Given the description of an element on the screen output the (x, y) to click on. 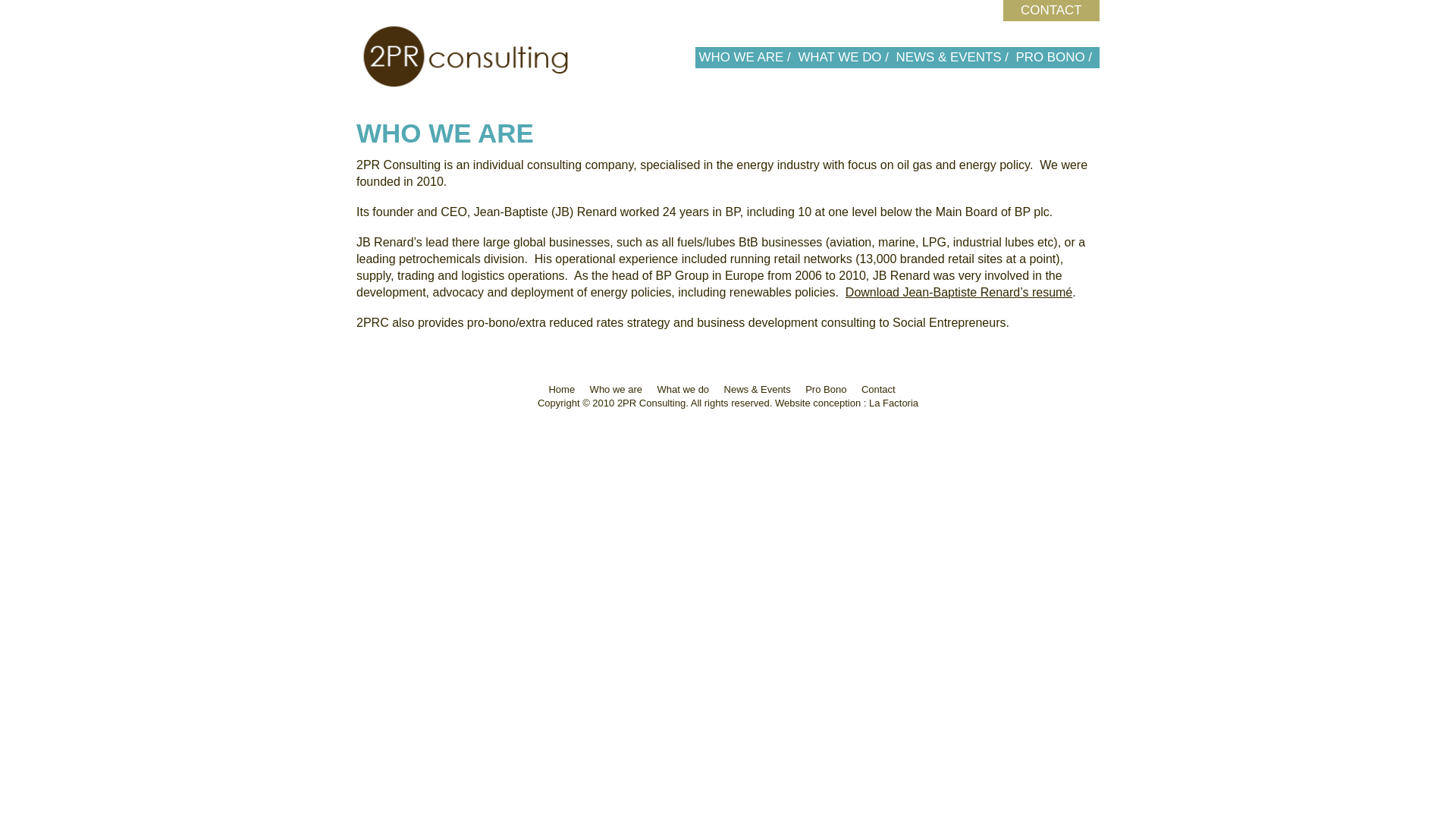
NEWS & EVENTS Element type: text (948, 57)
Pro Bono Element type: text (825, 389)
News & Events Element type: text (757, 389)
Who we are Element type: text (615, 389)
CONTACT Element type: text (1051, 10)
WHAT WE DO Element type: text (839, 57)
What we do Element type: text (682, 389)
WHO WE ARE Element type: text (741, 57)
La Factoria Element type: text (893, 402)
Contact Element type: text (878, 389)
Home Element type: text (561, 389)
PRO BONO Element type: text (1050, 57)
